Given the description of an element on the screen output the (x, y) to click on. 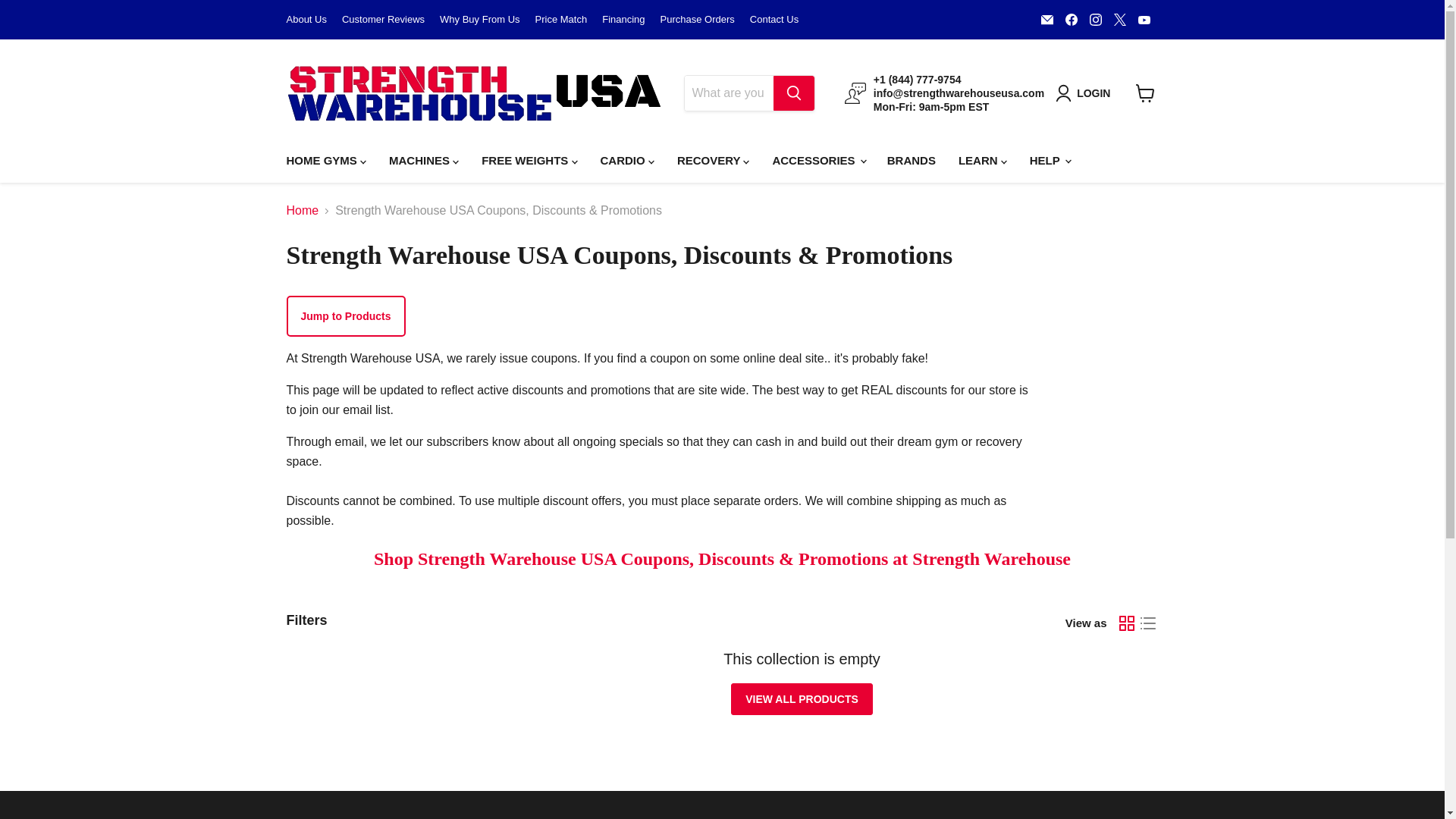
YouTube (1144, 19)
Customer Reviews (383, 19)
Price Match (561, 19)
Facebook (1071, 19)
Find us on Instagram (1095, 19)
Purchase Orders (698, 19)
Financing (623, 19)
Find us on YouTube (1144, 19)
Email (1047, 19)
About Us (306, 19)
